Given the description of an element on the screen output the (x, y) to click on. 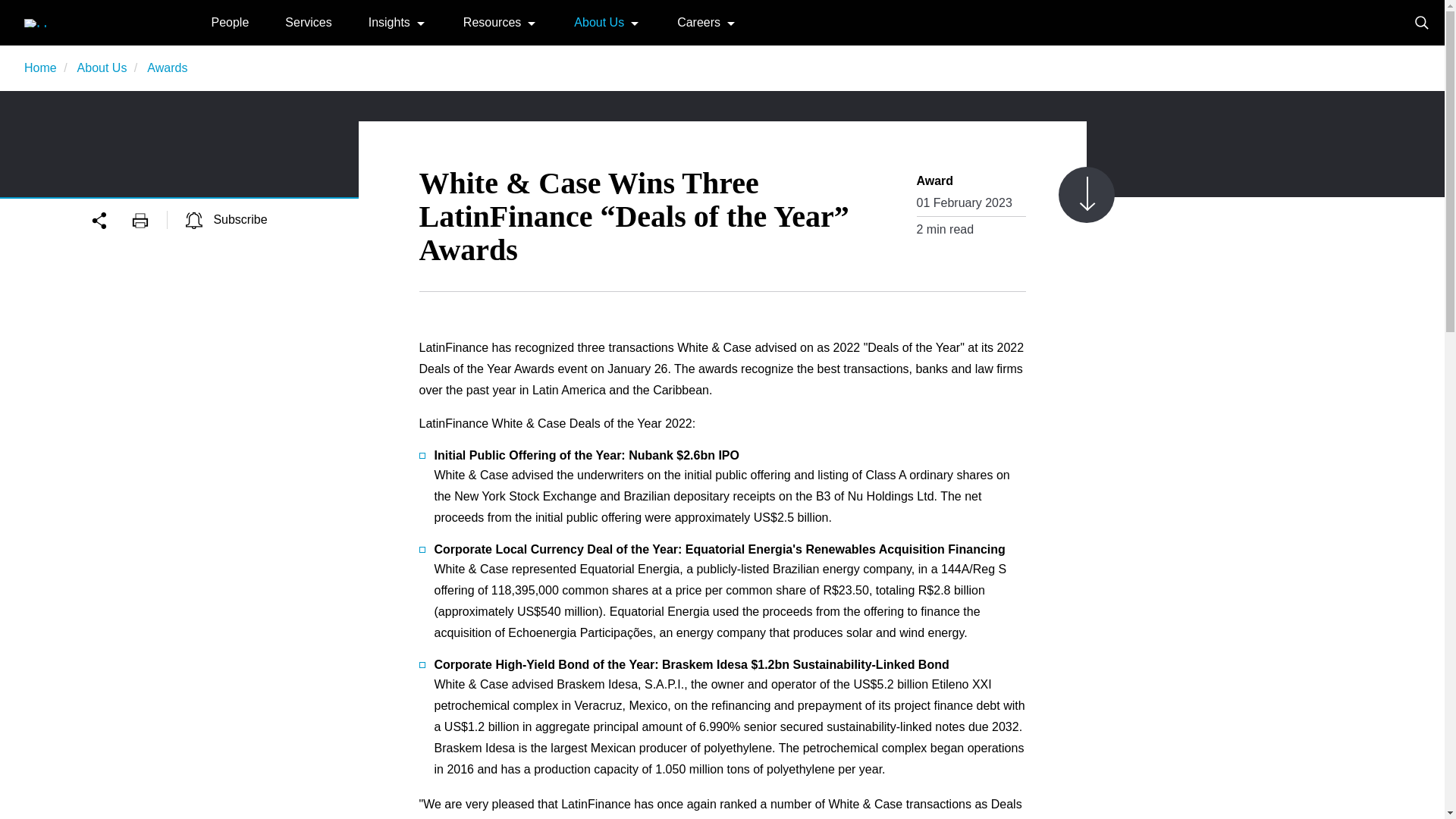
Services (308, 21)
Awards (167, 67)
Home (78, 22)
People (229, 21)
Print (149, 219)
Insights (389, 21)
Careers (698, 21)
About Us (102, 67)
Subscribe (226, 219)
Share (111, 219)
Subscribe (226, 219)
Home (40, 67)
About Us (598, 21)
Resources (492, 21)
